Given the description of an element on the screen output the (x, y) to click on. 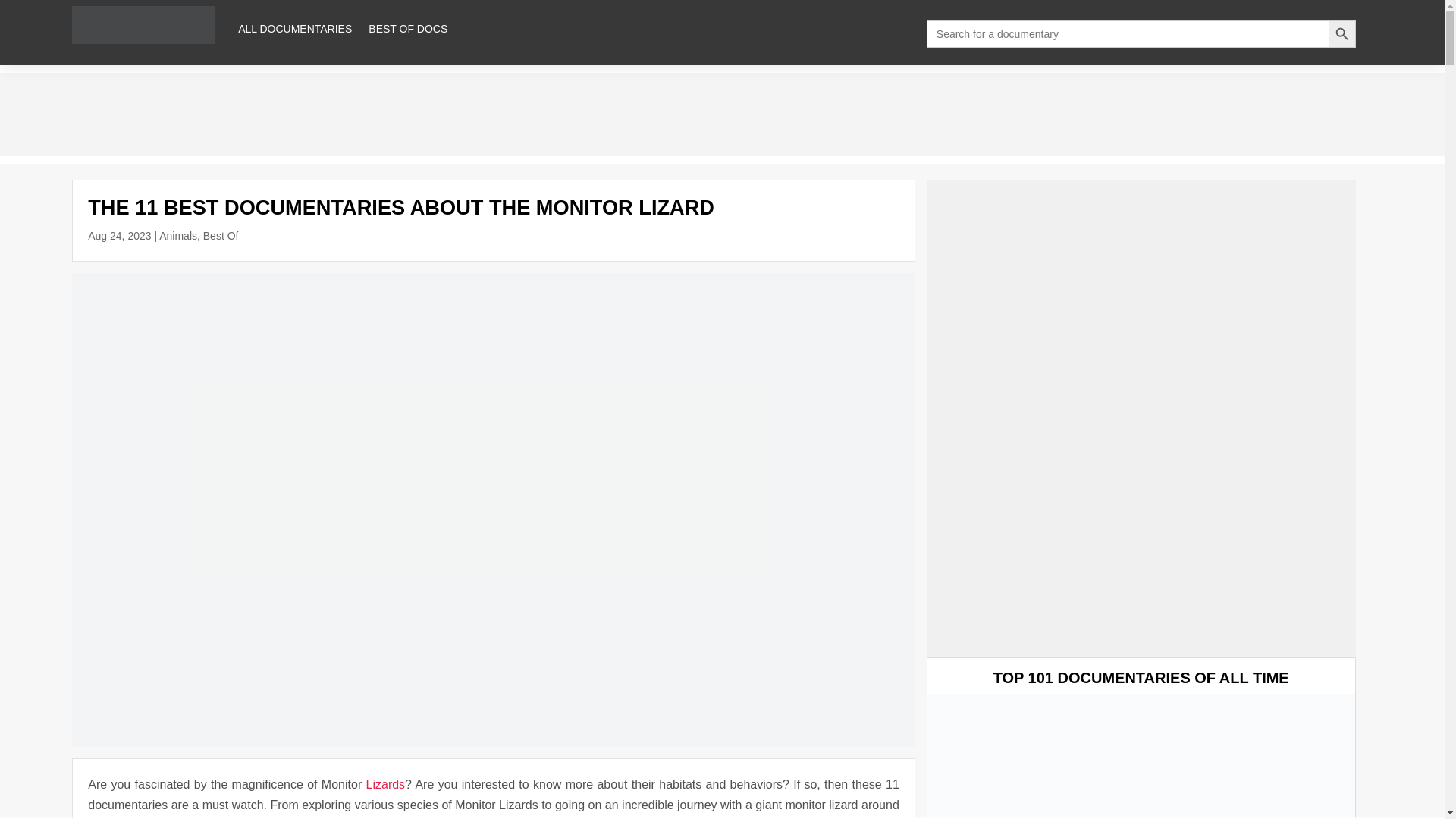
ALL DOCUMENTARIES (295, 28)
Animals (177, 235)
BEST OF DOCS (407, 28)
Best Of (220, 235)
Search Button (1341, 33)
Lizards (386, 784)
TOP 101 DOCUMENTARIES OF ALL TIME (1140, 677)
